Given the description of an element on the screen output the (x, y) to click on. 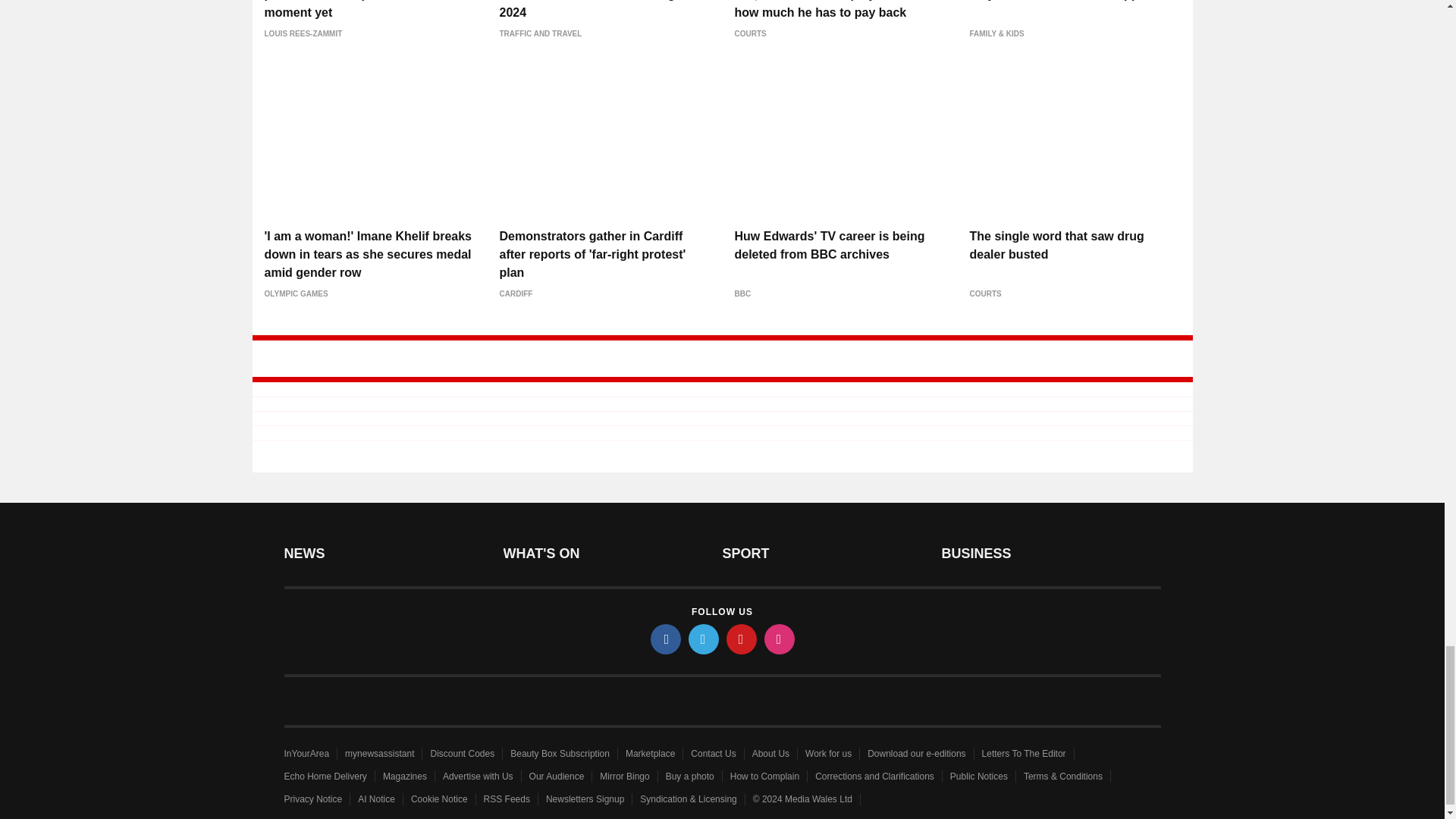
facebook (665, 639)
instagram (779, 639)
pinterest (741, 639)
twitter (703, 639)
